Given the description of an element on the screen output the (x, y) to click on. 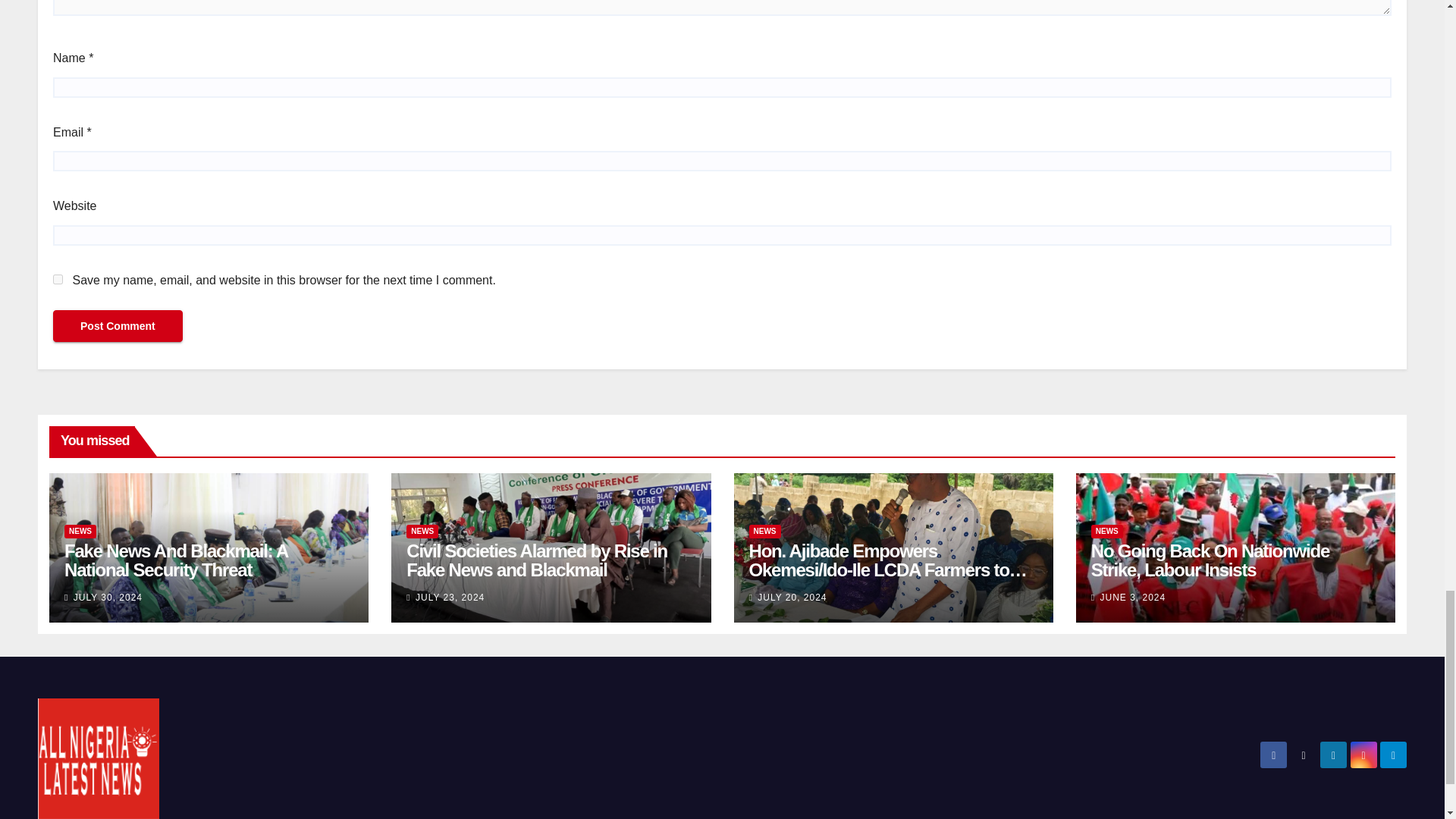
yes (57, 279)
Post Comment (117, 326)
